Given the description of an element on the screen output the (x, y) to click on. 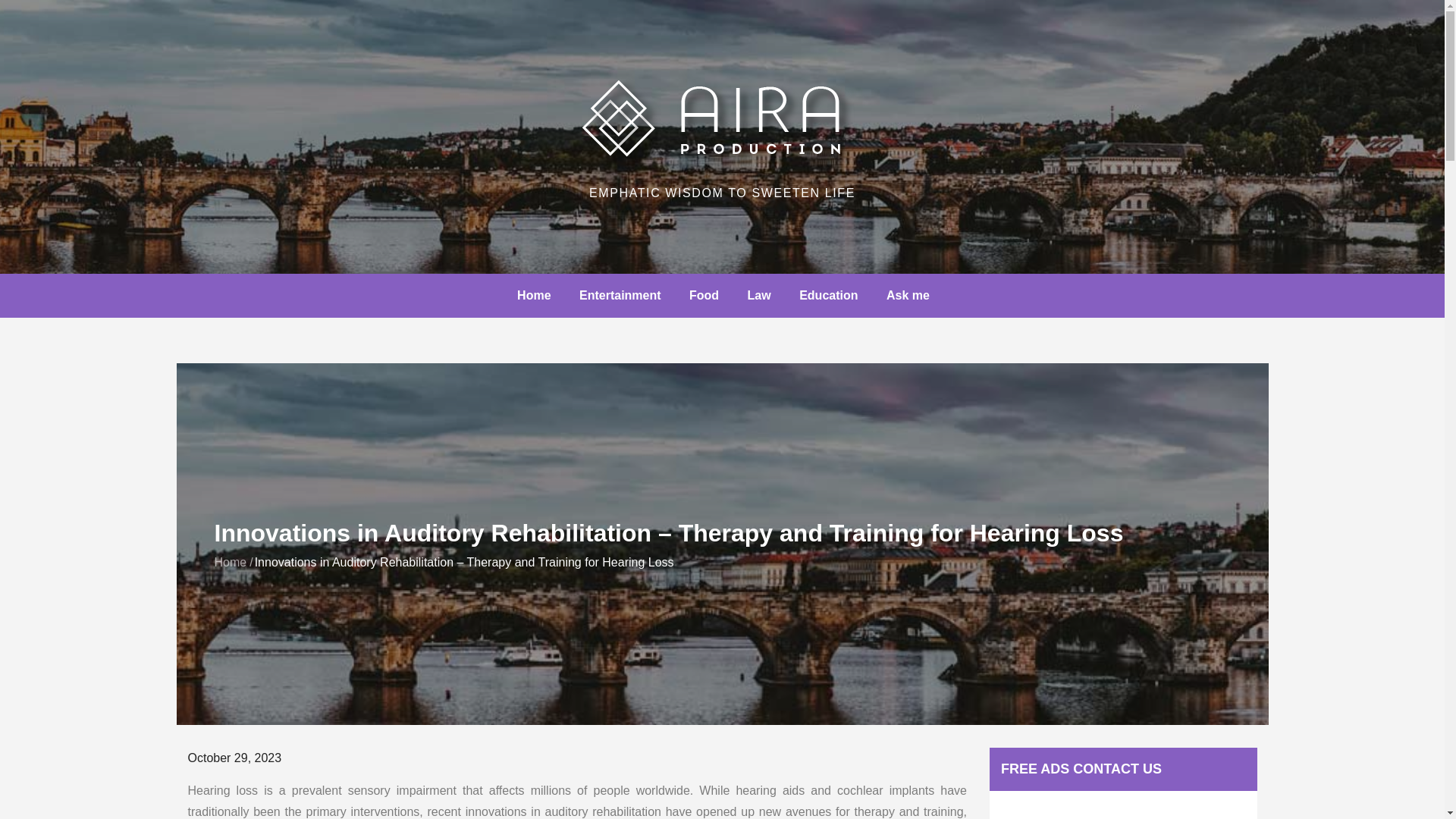
Ask me (907, 295)
Home (533, 295)
Food (703, 295)
Entertainment (620, 295)
Home (230, 562)
Law (758, 295)
Education (828, 295)
October 29, 2023 (234, 757)
